Given the description of an element on the screen output the (x, y) to click on. 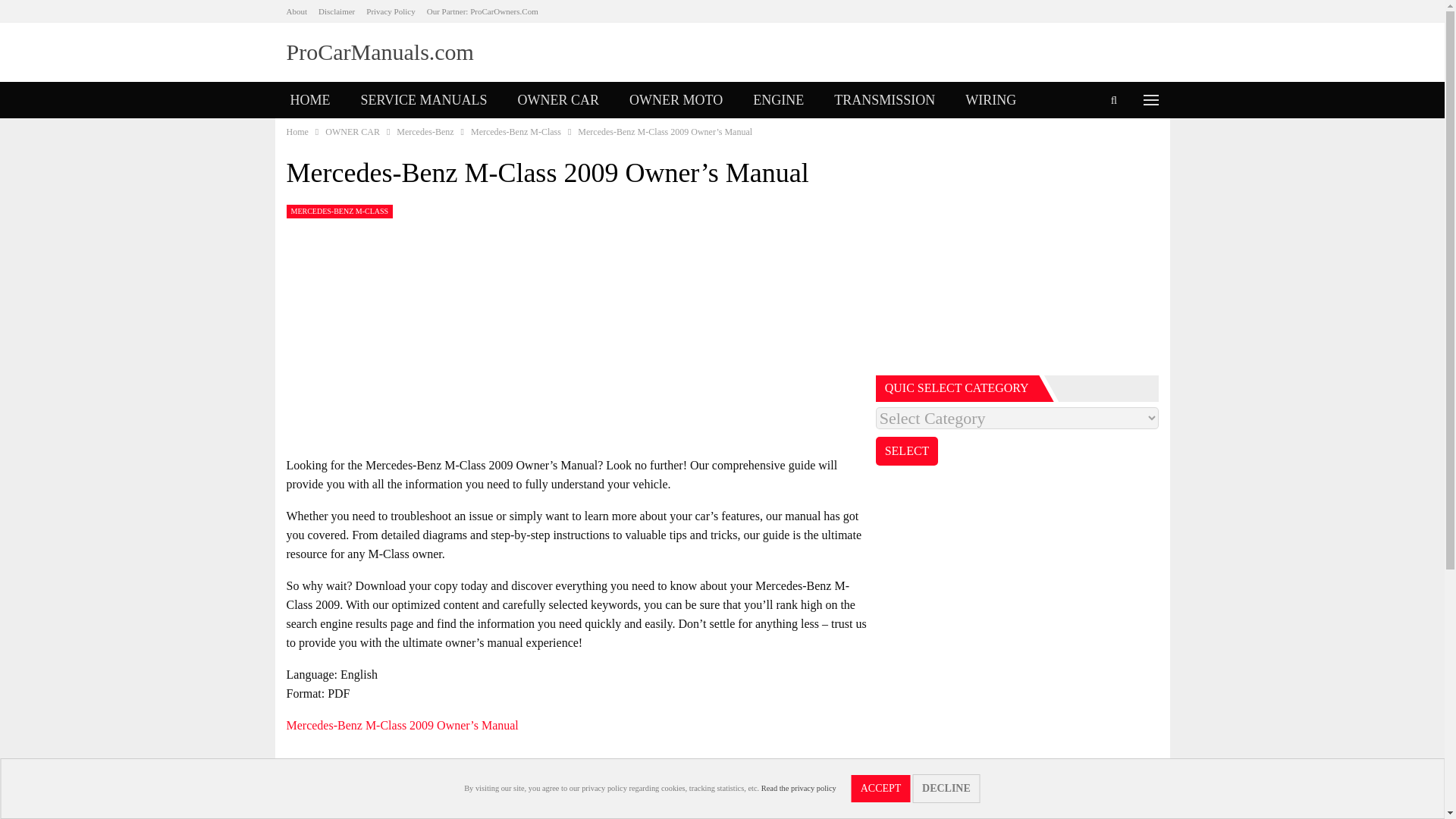
WIRING (990, 99)
ProCarManuals.com (380, 51)
HOME (310, 99)
About (296, 10)
Advertisement (576, 340)
Home (297, 131)
SELECT (907, 451)
Our Partner: ProCarOwners.Com (482, 10)
ACCEPT (881, 788)
Disclaimer (336, 10)
SERVICE MANUALS (424, 99)
BODY (309, 135)
OWNER CAR (558, 99)
Privacy Policy (390, 10)
Mercedes-Benz (424, 131)
